Given the description of an element on the screen output the (x, y) to click on. 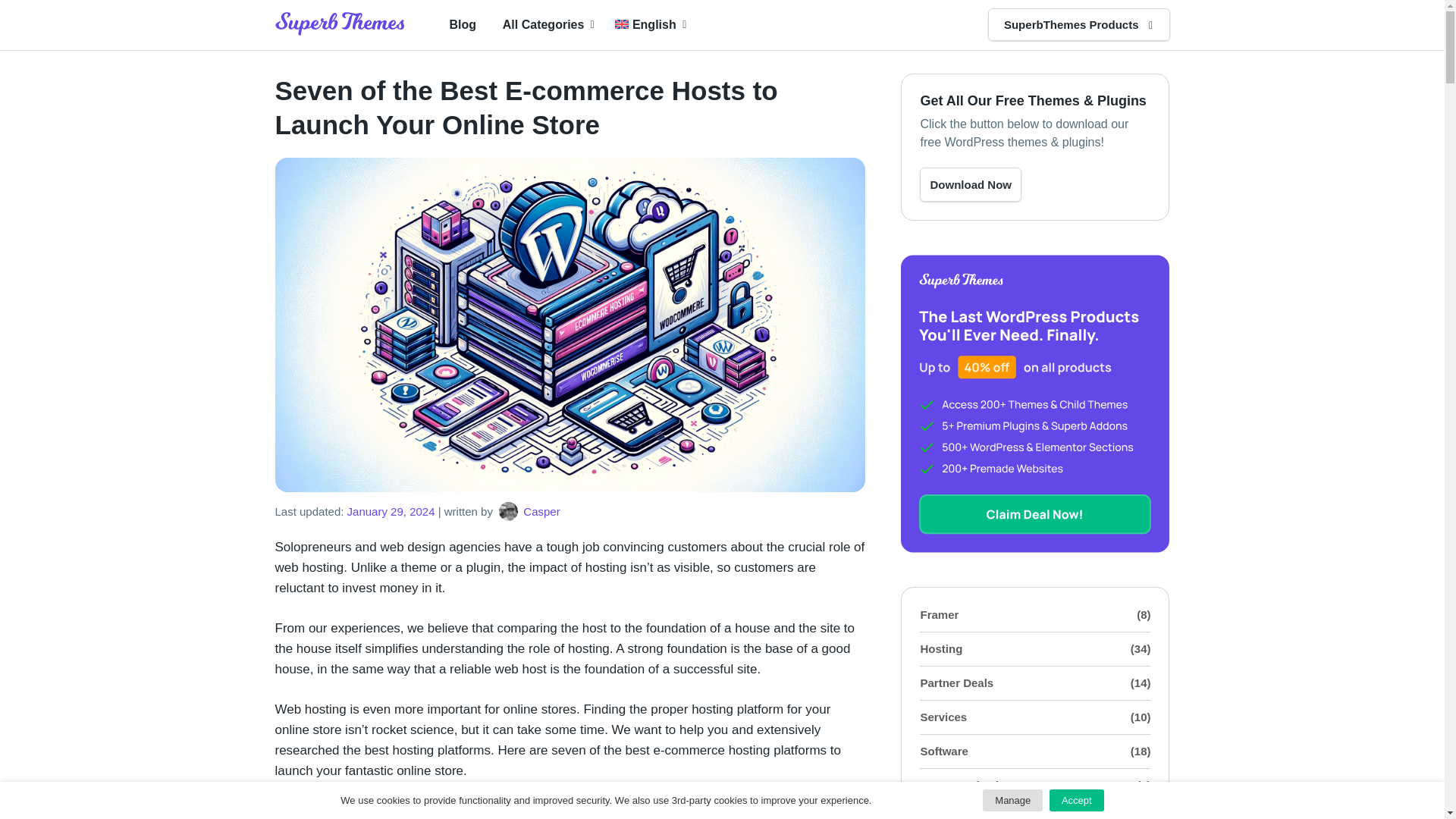
Blog (462, 24)
English (647, 24)
SuperbThemes Products (1071, 24)
All Categories (545, 24)
Casper (528, 511)
English (647, 24)
